Given the description of an element on the screen output the (x, y) to click on. 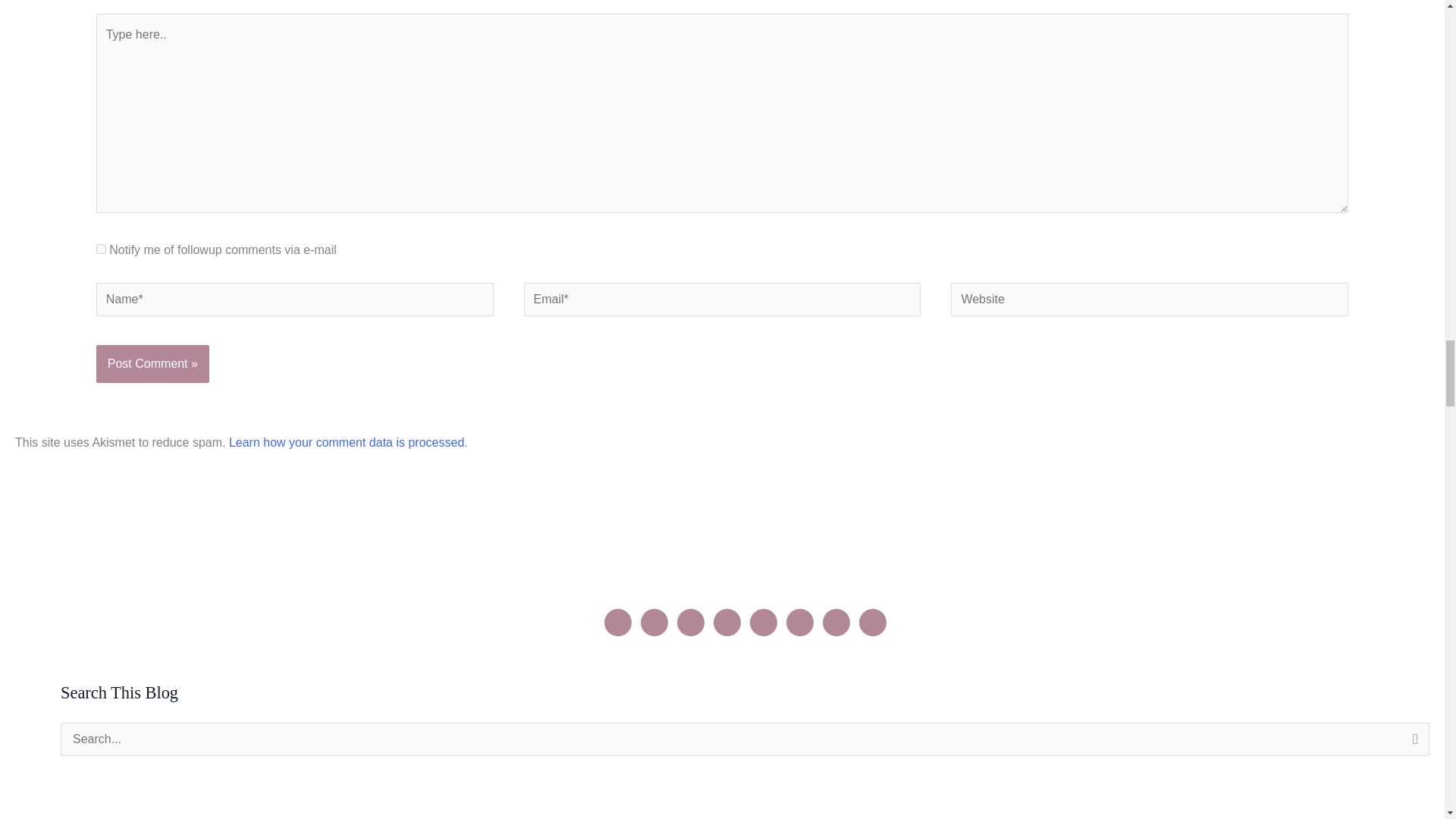
subscribe (101, 248)
